Given the description of an element on the screen output the (x, y) to click on. 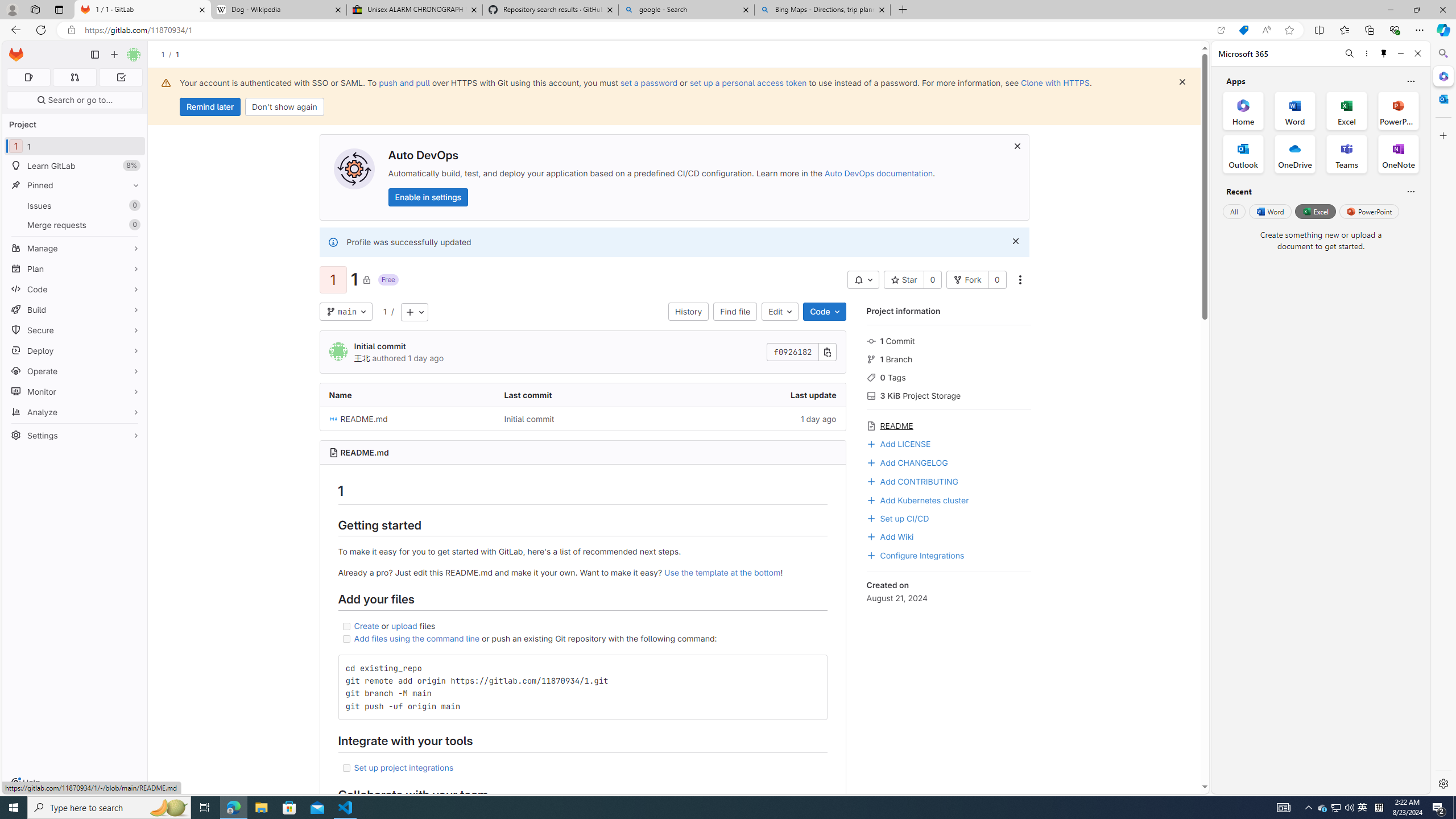
Add CONTRIBUTING (948, 480)
11 (74, 145)
README.md (364, 452)
Merge requests 0 (74, 224)
Add CONTRIBUTING (912, 480)
Create or upload files (582, 626)
main (345, 311)
1 day ago (757, 418)
